Given the description of an element on the screen output the (x, y) to click on. 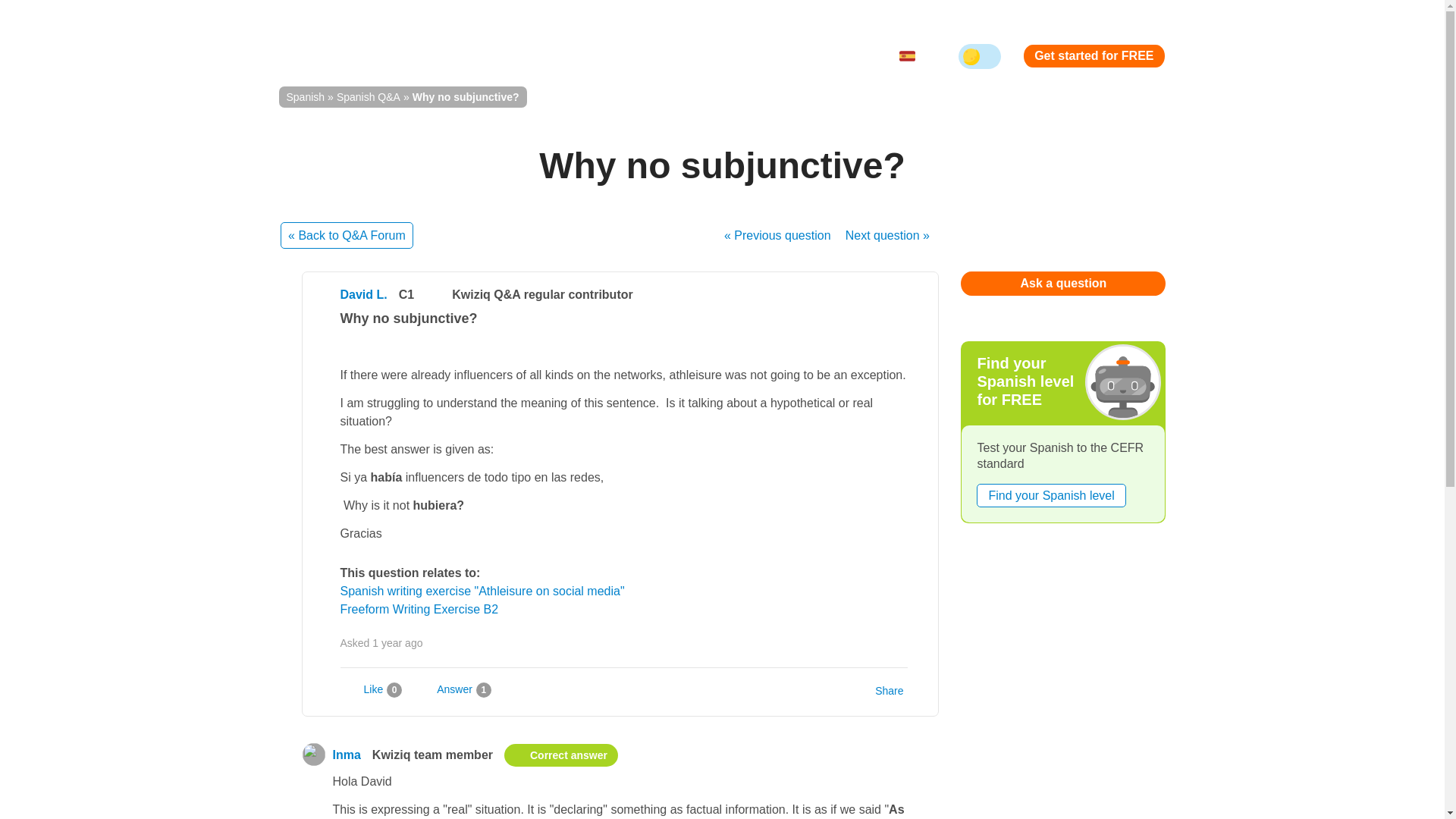
For teachers (650, 56)
Pricing (728, 56)
How Kwiziq works (463, 56)
Explore (565, 56)
17th March 2023 (397, 643)
Sign in (790, 56)
Toggle Dark Mode (979, 56)
